Given the description of an element on the screen output the (x, y) to click on. 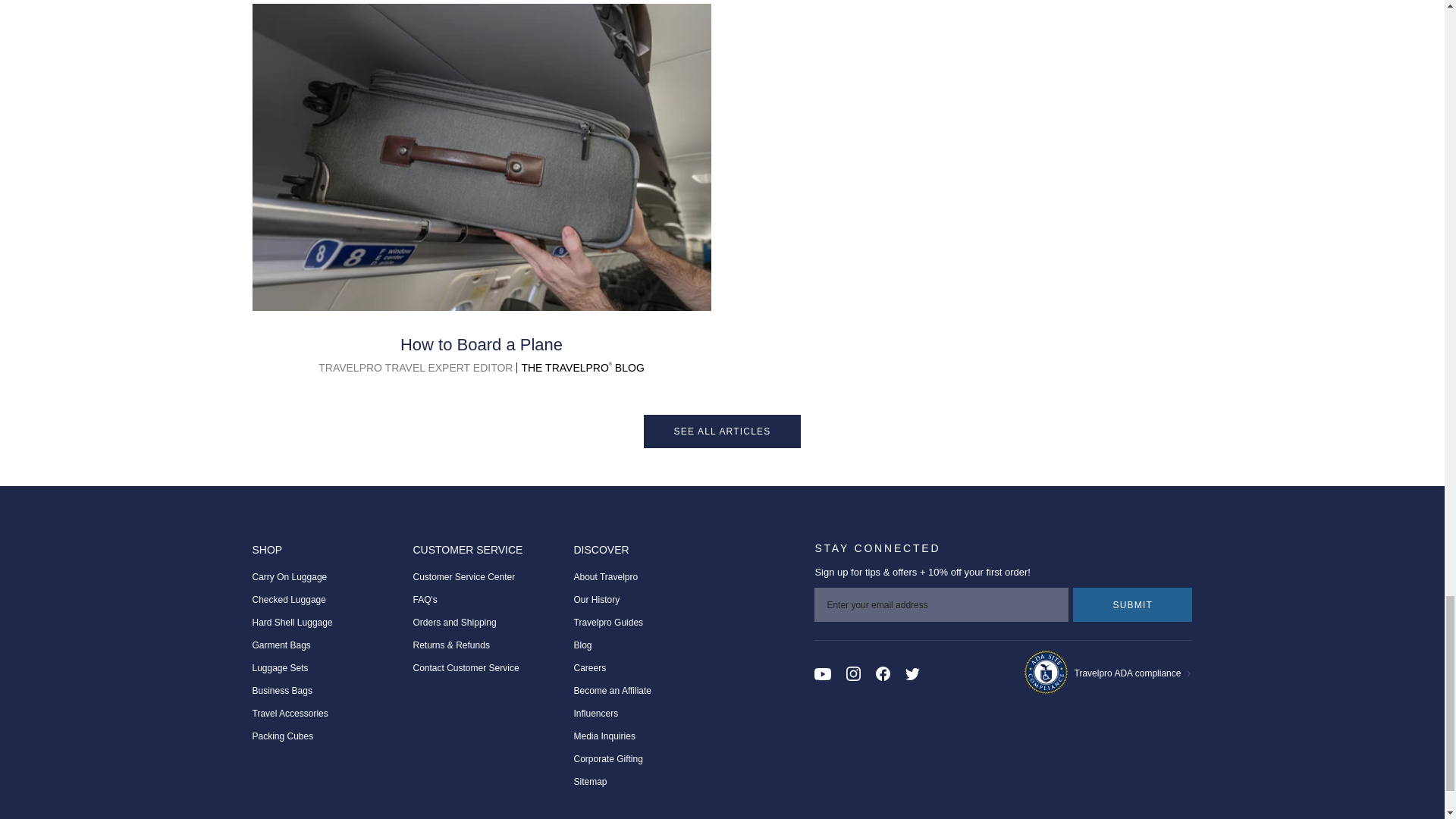
Travelpro on Twitter (912, 673)
Travelpro on Instagram (852, 673)
Travelpro on Facebook (882, 673)
Travelpro on YouTube (822, 673)
